Given the description of an element on the screen output the (x, y) to click on. 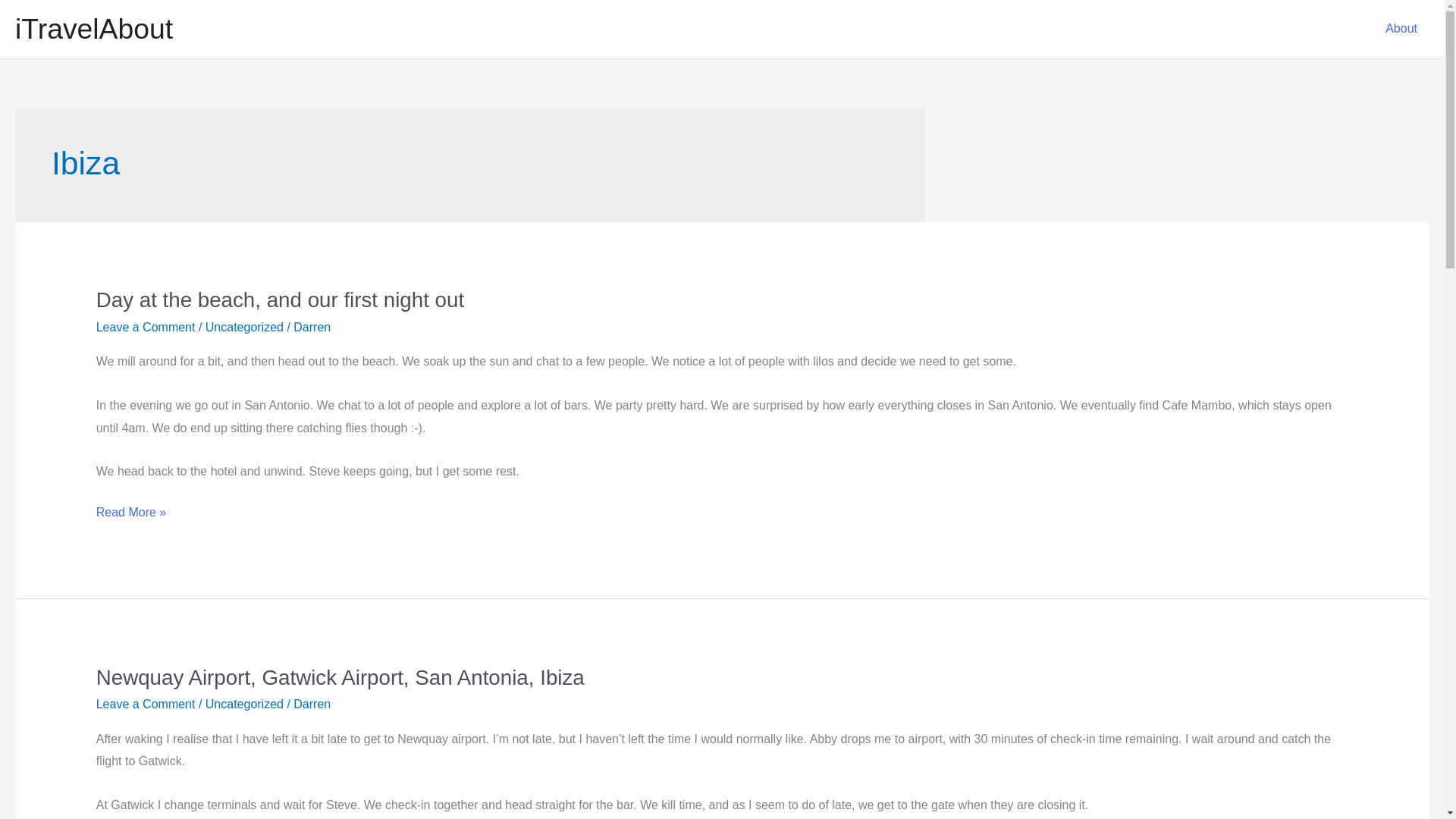
View all posts by Darren (312, 327)
About (1401, 28)
View all posts by Darren (312, 703)
iTravelAbout (93, 29)
